Given the description of an element on the screen output the (x, y) to click on. 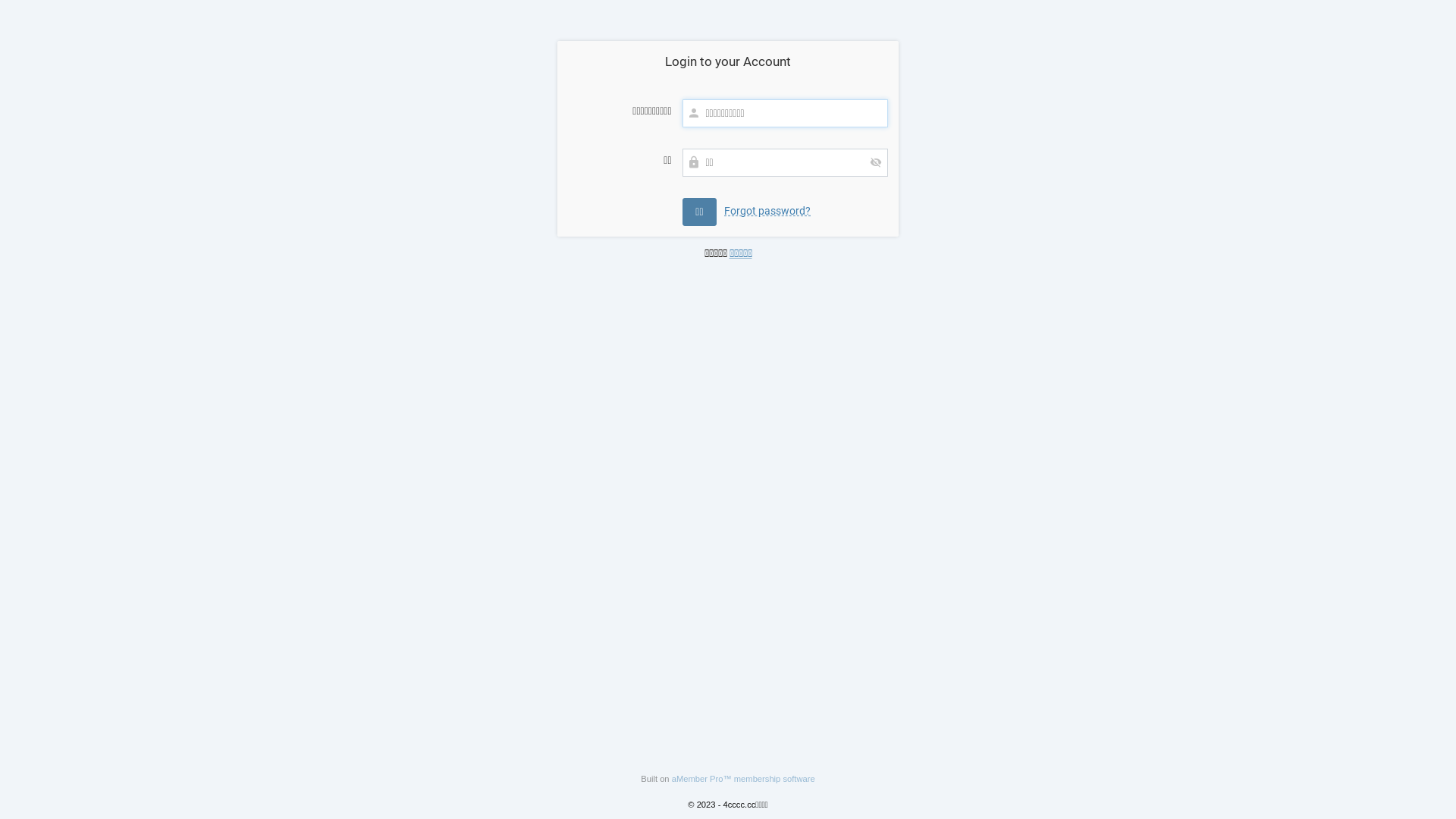
Forgot password? Element type: text (767, 210)
Toggle Password Visibility Element type: hover (875, 162)
